Given the description of an element on the screen output the (x, y) to click on. 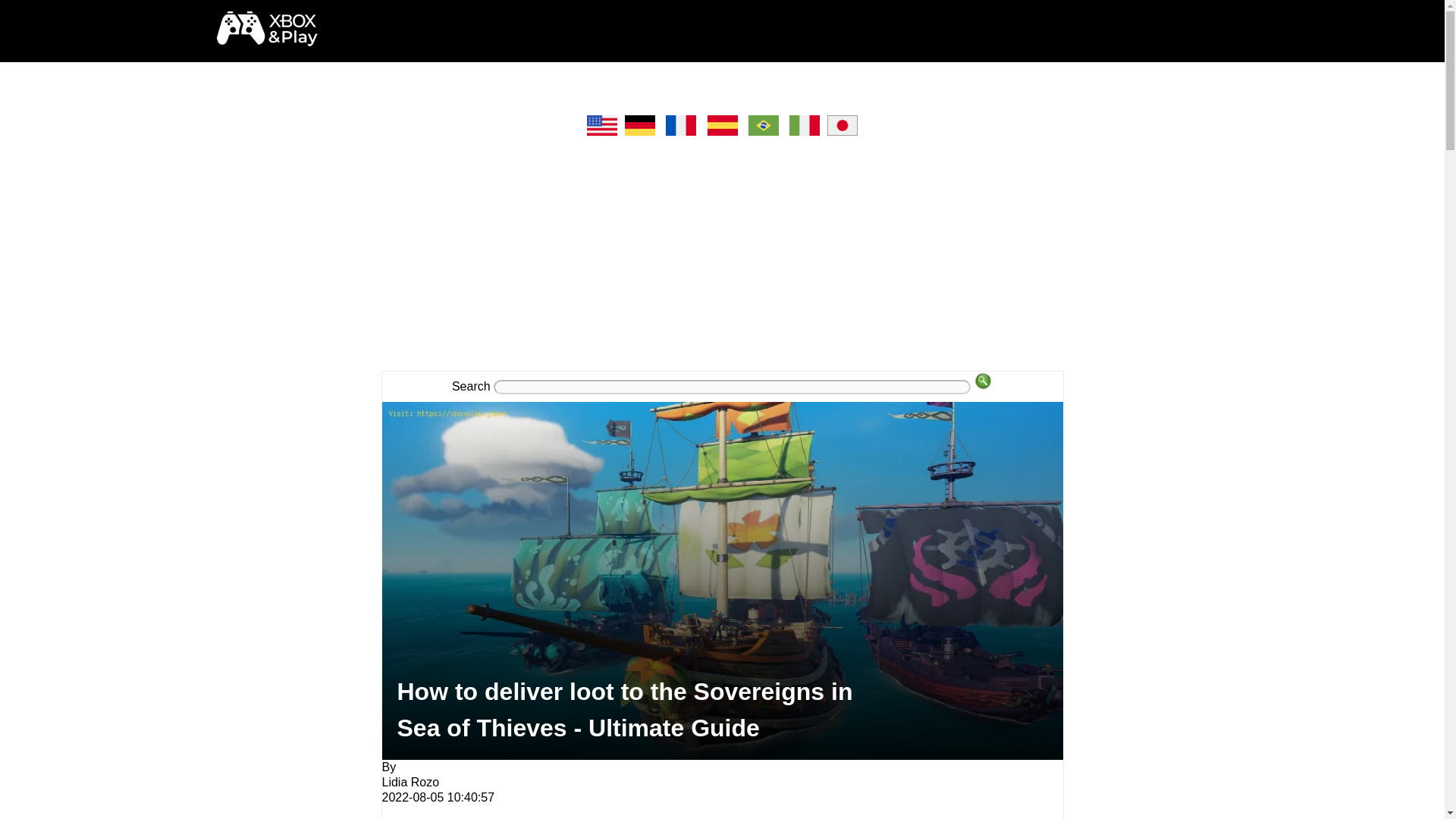
Xbox Play games English (601, 131)
Xbox Play games France (681, 131)
Xbox Play games Portugues (763, 131)
Xbox Play games Italian (805, 131)
Home (266, 41)
Xbox Play games Deutch (640, 131)
Xbox Play games Japon (842, 131)
Search (983, 380)
